Given the description of an element on the screen output the (x, y) to click on. 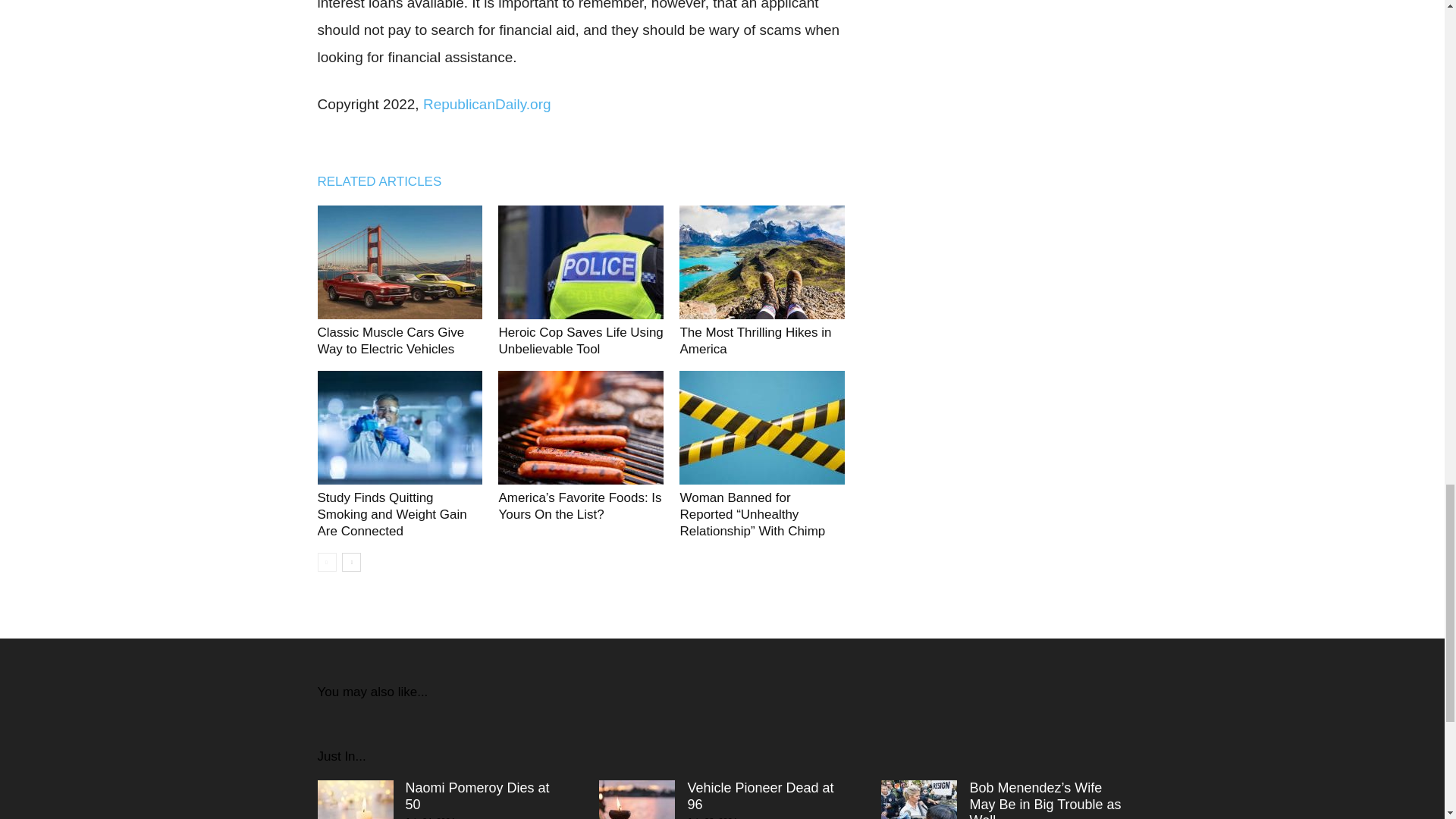
Classic Muscle Cars Give Way to Electric Vehicles (390, 340)
Heroic Cop Saves Life Using Unbelievable Tool (579, 340)
Classic Muscle Cars Give Way to Electric Vehicles (390, 340)
The Most Thrilling Hikes in America (755, 340)
RELATED ARTICLES (387, 181)
Heroic Cop Saves Life Using Unbelievable Tool (579, 340)
RepublicanDaily.org (487, 104)
The Most Thrilling Hikes in America (761, 262)
Heroic Cop Saves Life Using Unbelievable Tool (580, 262)
Study Finds Quitting Smoking and Weight Gain Are Connected (391, 514)
Study Finds Quitting Smoking and Weight Gain Are Connected (399, 427)
Classic Muscle Cars Give Way to Electric Vehicles (399, 262)
The Most Thrilling Hikes in America (755, 340)
